Given the description of an element on the screen output the (x, y) to click on. 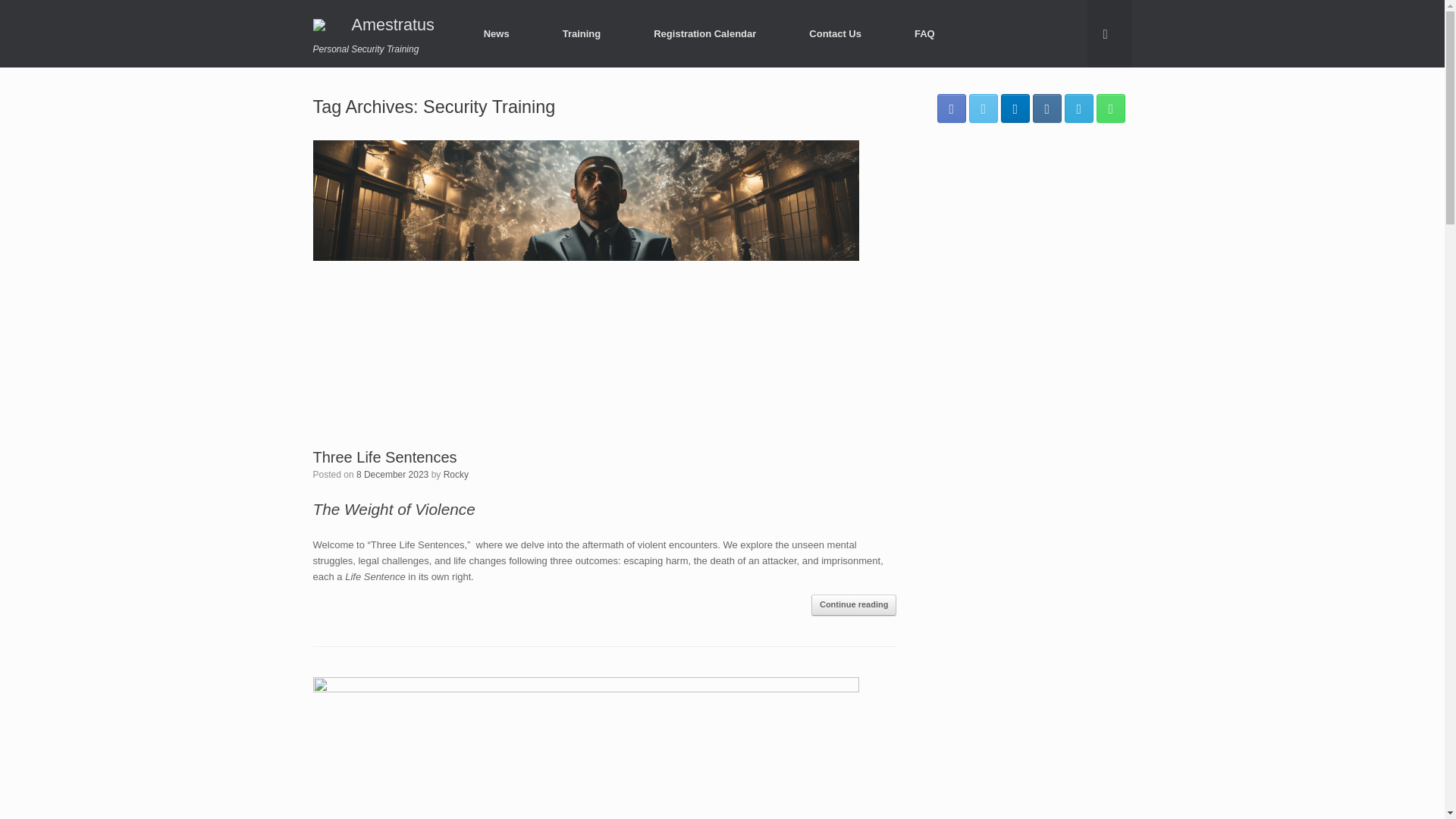
News (496, 33)
View all posts by Rocky (456, 474)
Amestratus (379, 24)
Amestratus (379, 24)
Three Life Sentences (385, 457)
Permalink to Three Life Sentences (385, 457)
8 December 2023 (392, 474)
1200 (392, 474)
Rocky (456, 474)
Contact Us (835, 33)
Registration Calendar (705, 33)
Training (581, 33)
Continue reading (853, 604)
FAQ (924, 33)
